Given the description of an element on the screen output the (x, y) to click on. 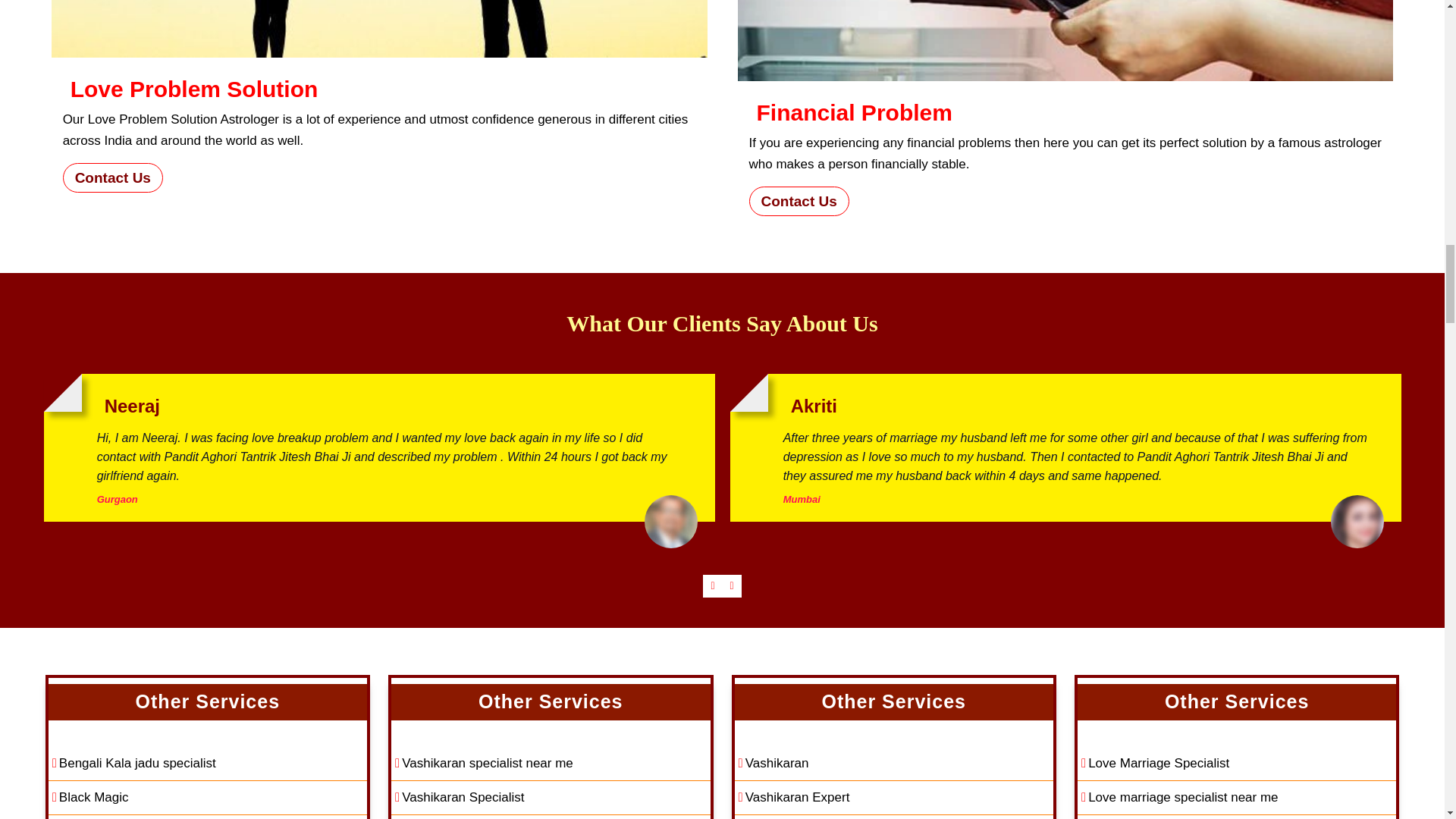
Financial Problem (1064, 40)
Vashikaran Specialist Baba (550, 816)
Black Magic (207, 797)
Contact Us (798, 201)
Vashikaran Specialist (550, 797)
Bengali Kala jadu specialist (207, 763)
Vashikaran specialist near me (550, 763)
Contact Us (112, 177)
